Given the description of an element on the screen output the (x, y) to click on. 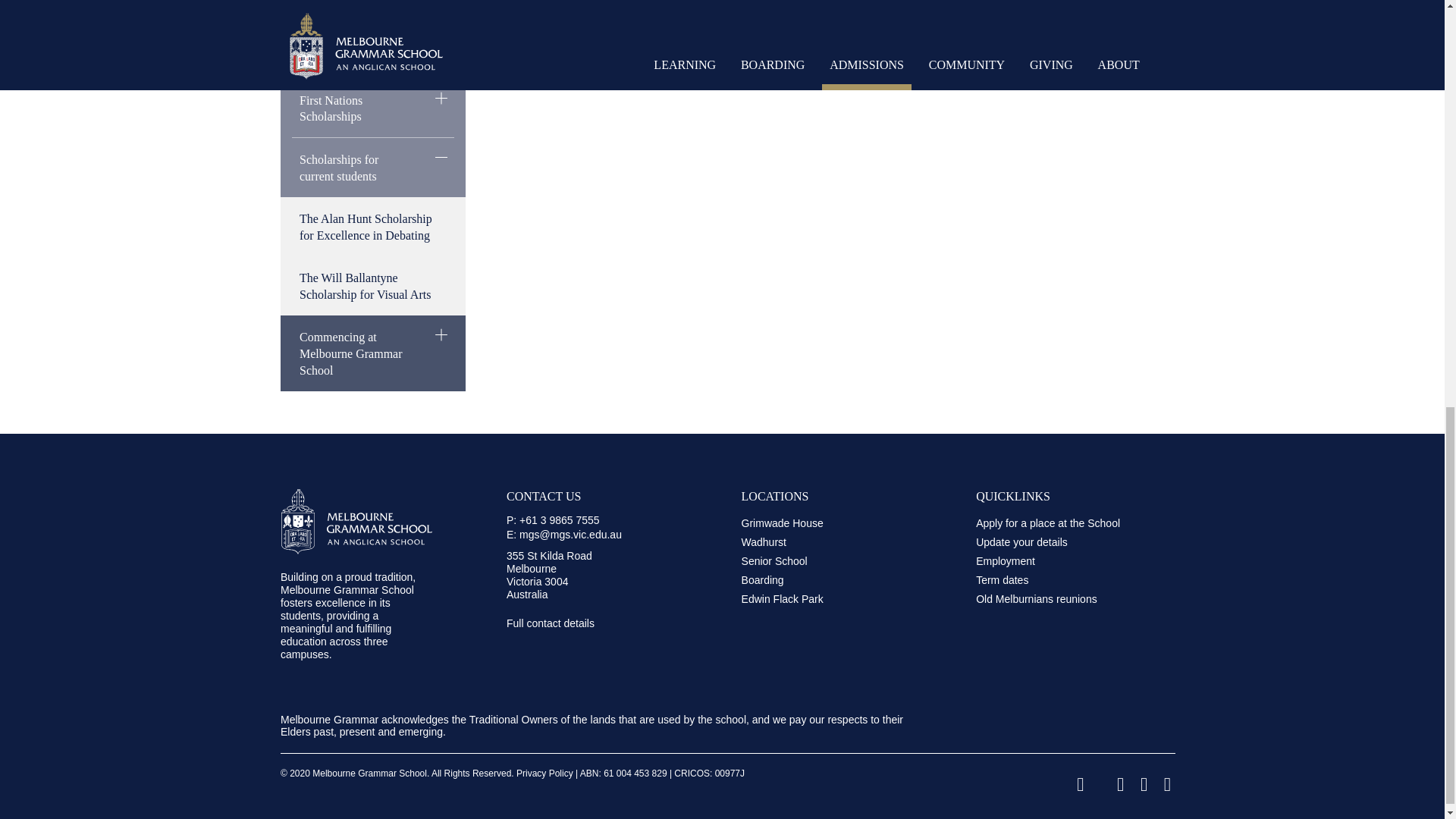
Privacy Policy (544, 773)
Apply for a place at the School (1055, 522)
Full contact details (586, 623)
Term dates (1055, 579)
Old Melburnian reunions (1055, 599)
Employment (1055, 561)
